Given the description of an element on the screen output the (x, y) to click on. 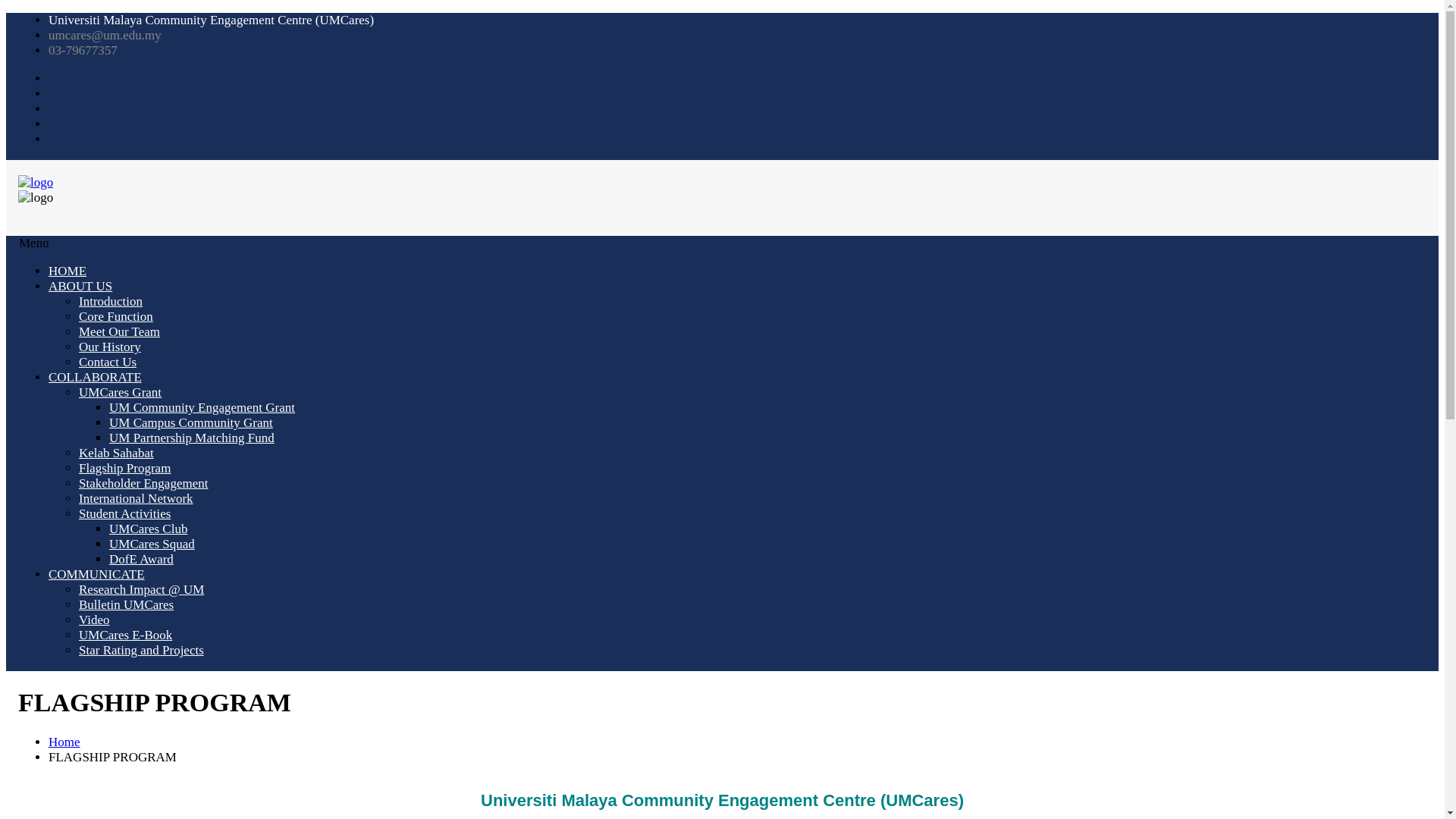
UMCares E-Book (124, 635)
UM Partnership Matching Fund (192, 437)
Meet Our Team (119, 331)
Our History (109, 346)
Bulletin UMCares (125, 604)
HOME (66, 270)
Star Rating and Projects (140, 649)
Introduction (110, 301)
Contact Us (107, 361)
COLLABORATE (94, 377)
